Given the description of an element on the screen output the (x, y) to click on. 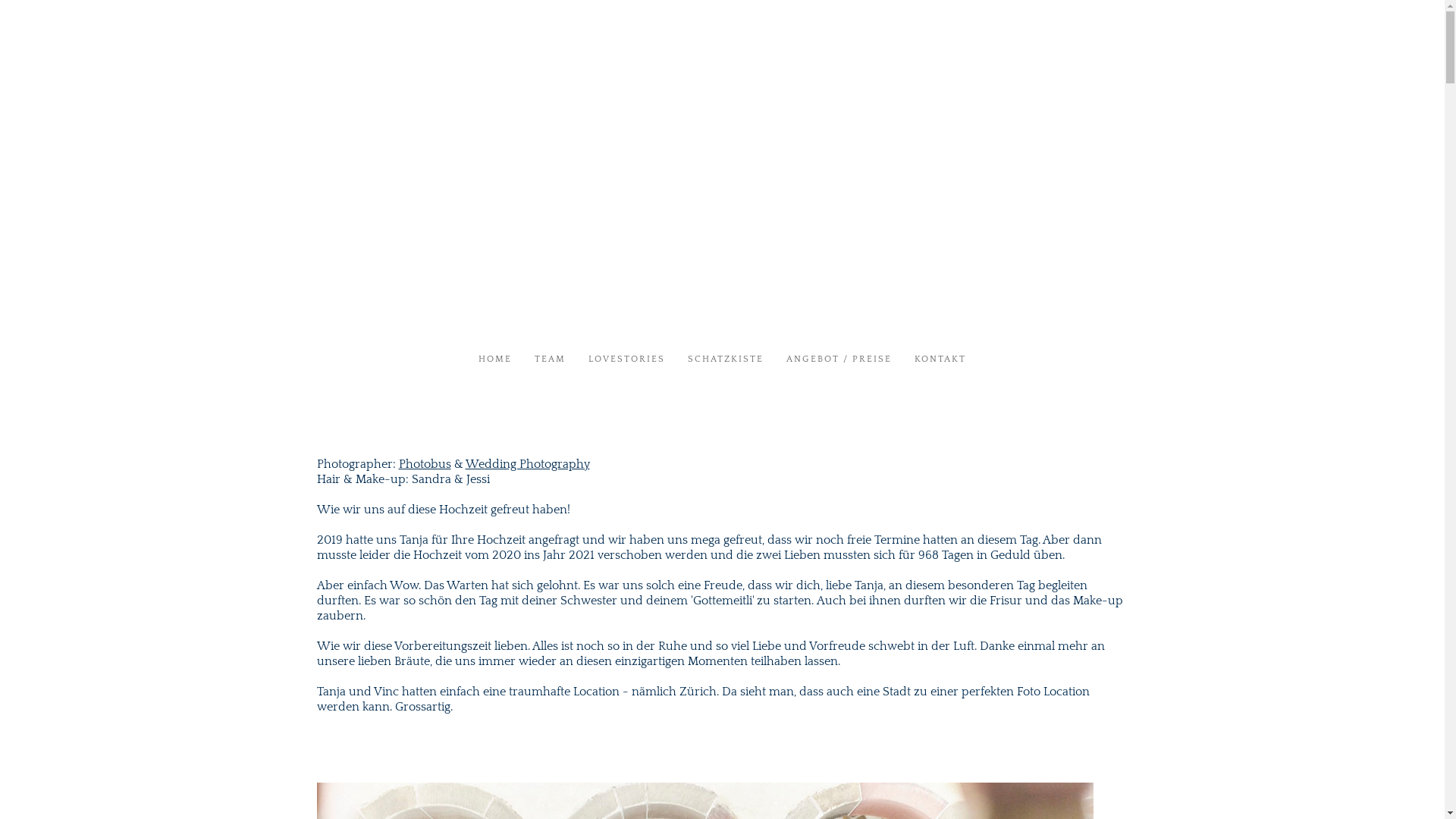
HOME Element type: text (495, 358)
Wedding Photography Element type: text (527, 463)
LOVESTORIES Element type: text (626, 358)
KONTAKT Element type: text (940, 358)
TEAM Element type: text (550, 358)
SCHATZKISTE Element type: text (725, 358)
Photobus Element type: text (424, 463)
ANGEBOT / PREISE Element type: text (839, 358)
